Given the description of an element on the screen output the (x, y) to click on. 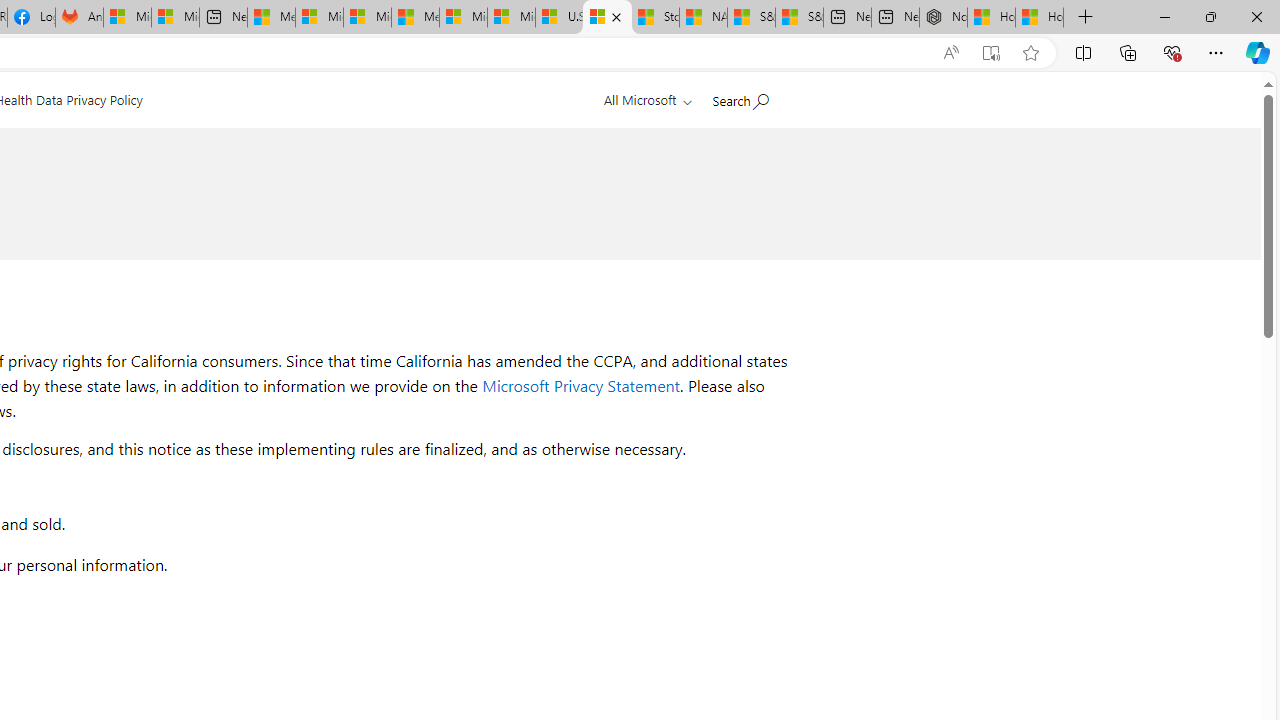
Search Microsoft.com (740, 97)
Microsoft account | Privacy (319, 17)
Read aloud this page (Ctrl+Shift+U) (950, 53)
Microsoft Privacy Statement (581, 385)
How to Use a Monitor With Your Closed Laptop (1039, 17)
Microsoft account | Home (367, 17)
